Given the description of an element on the screen output the (x, y) to click on. 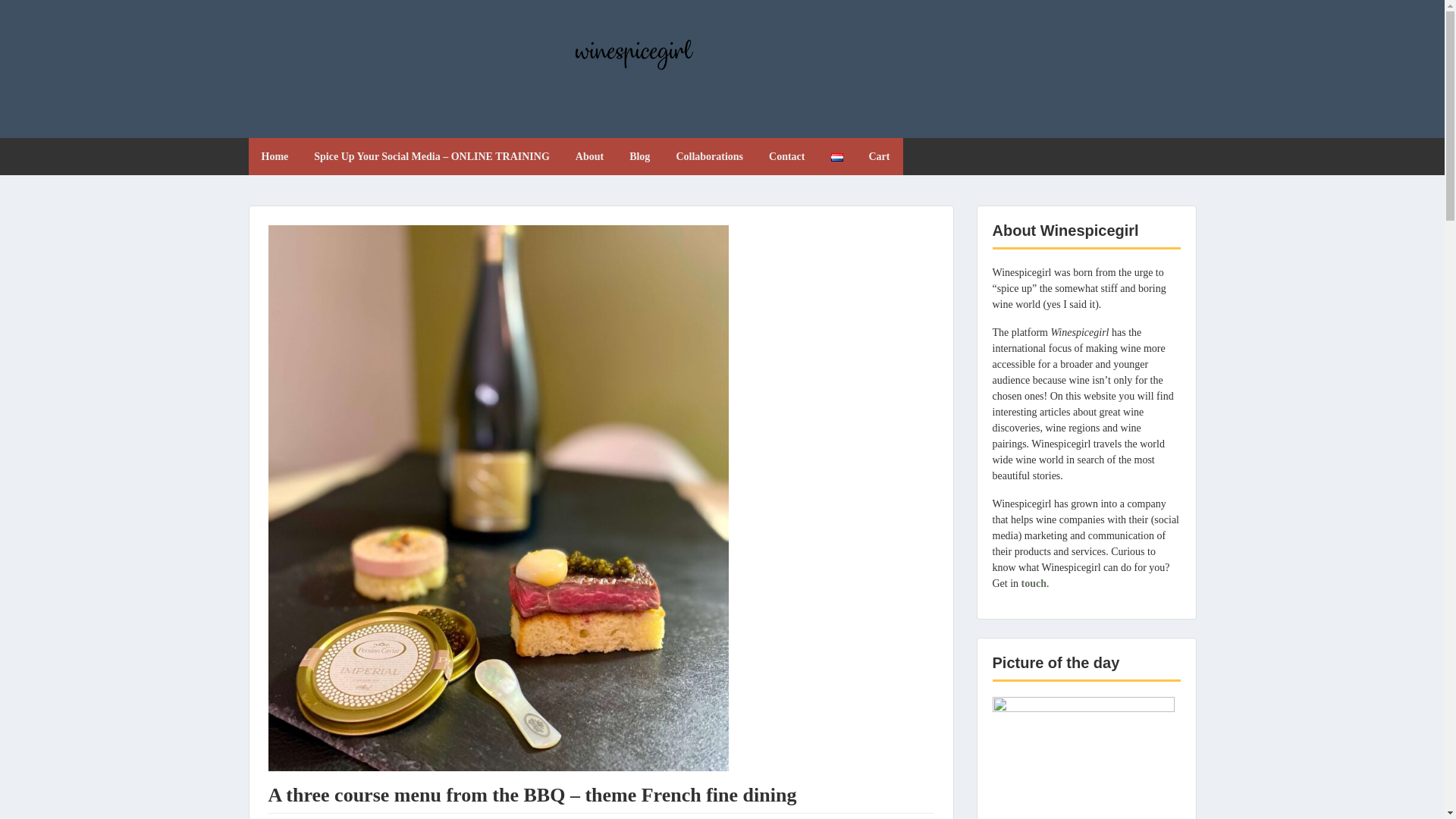
touch (1031, 583)
Home (274, 156)
Blog (638, 156)
About (588, 156)
0P9A7180-Enhanced-NR (1082, 757)
Collaborations (708, 156)
Contact (785, 156)
Cart (879, 156)
